Given the description of an element on the screen output the (x, y) to click on. 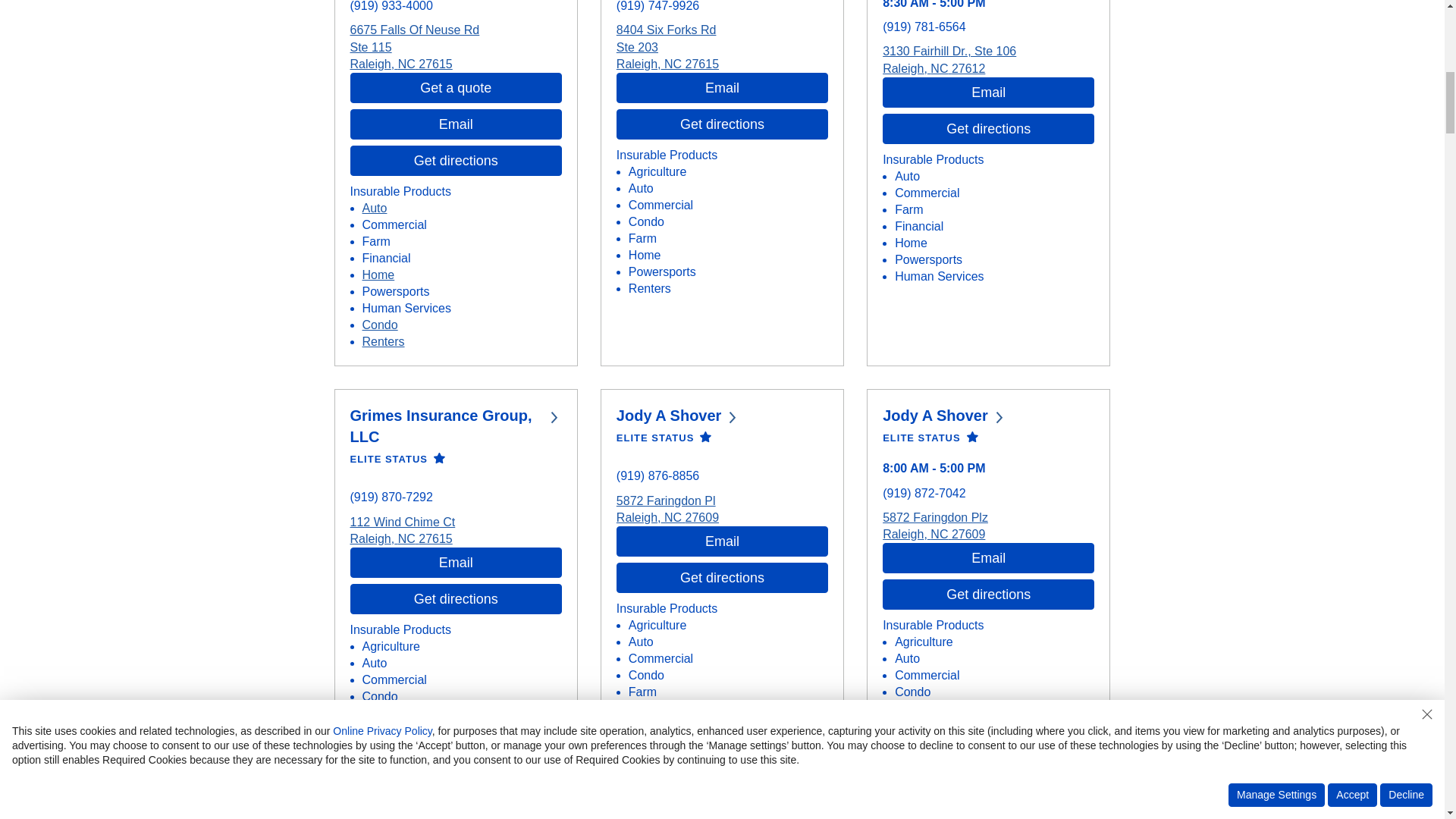
North Carolina (405, 538)
North Carolina (672, 517)
North Carolina (938, 68)
North Carolina (672, 63)
North Carolina (405, 63)
North Carolina (938, 533)
